Given the description of an element on the screen output the (x, y) to click on. 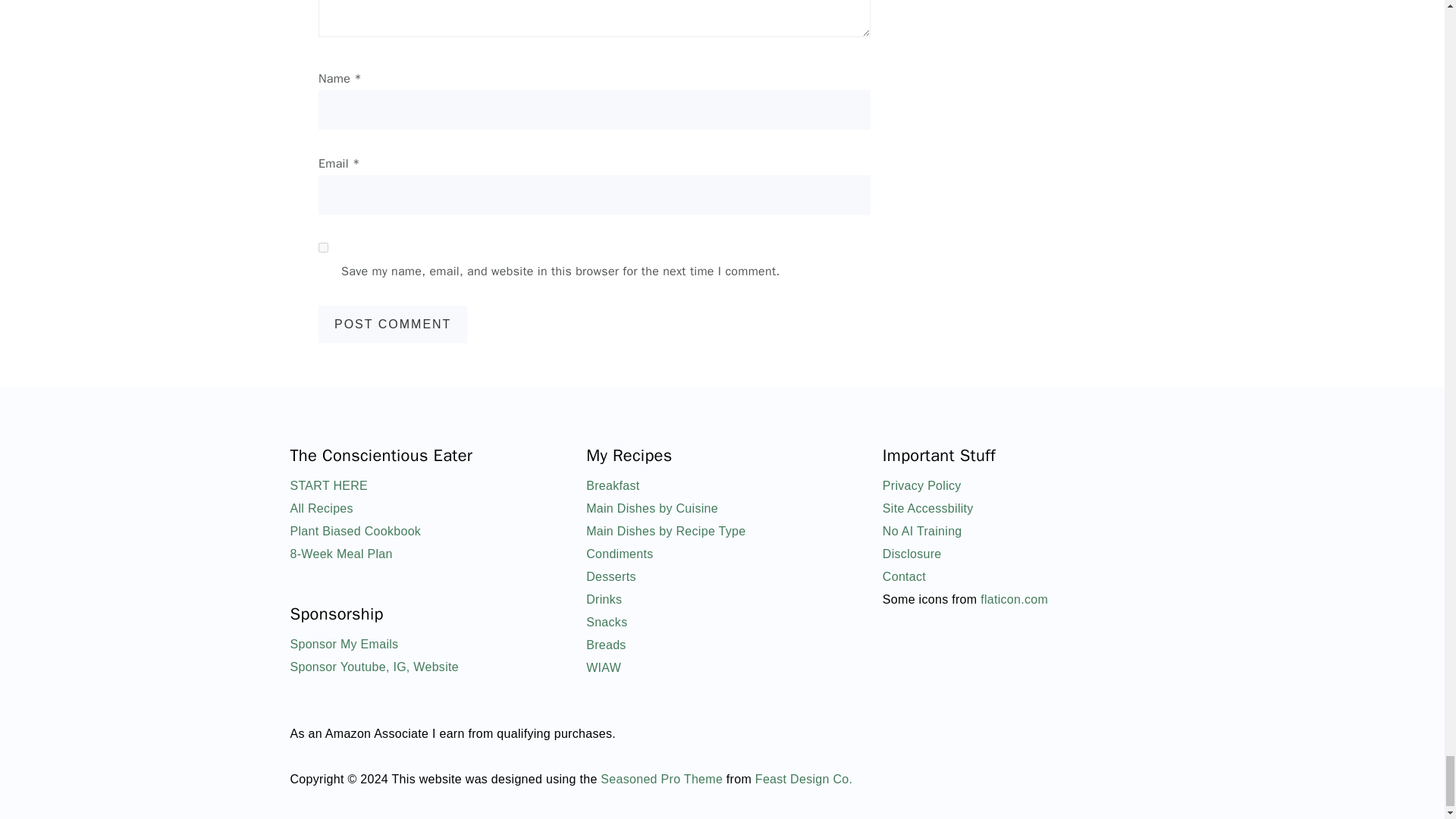
yes (323, 247)
Post Comment (392, 324)
